Given the description of an element on the screen output the (x, y) to click on. 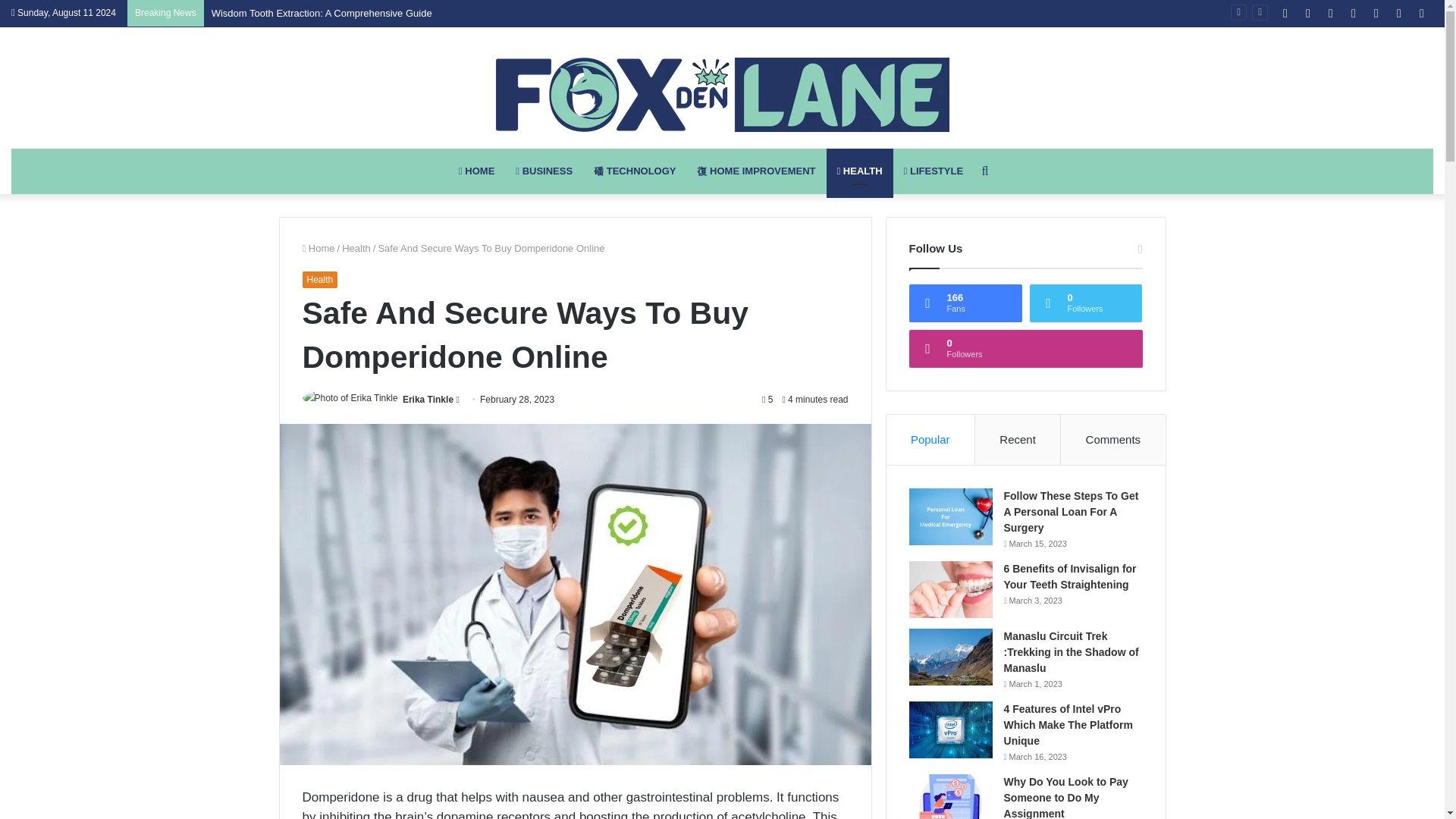
HOME (476, 171)
BUSINESS (544, 171)
TECHNOLOGY (634, 171)
Fox Den Lane (722, 94)
Home (317, 247)
HEALTH (860, 171)
Health (356, 247)
HOME IMPROVEMENT (755, 171)
Erika Tinkle (427, 398)
LIFESTYLE (933, 171)
